Given the description of an element on the screen output the (x, y) to click on. 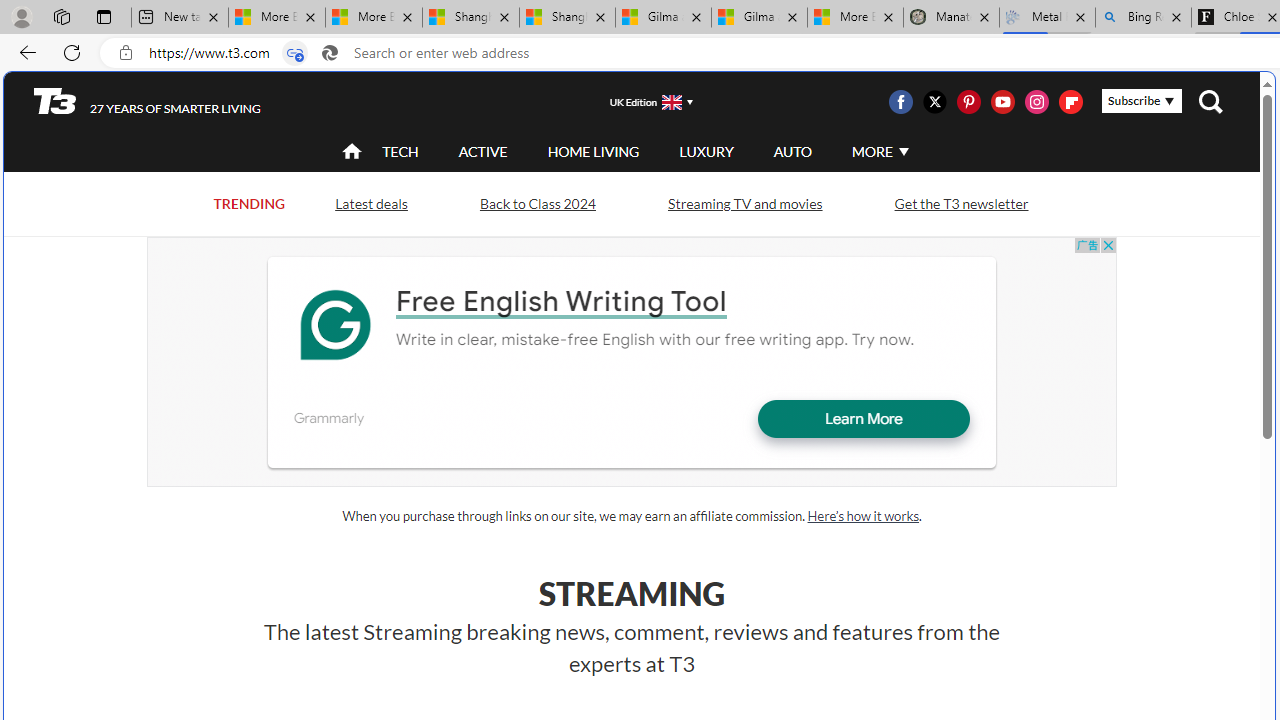
TECH (399, 151)
AUTO (792, 151)
Manatee Mortality Statistics | FWC (951, 17)
Bing Real Estate - Home sales and rental listings (1143, 17)
Visit us on Instagram (1037, 101)
LUXURY (705, 151)
Get the T3 newsletter (961, 202)
Search icon (329, 53)
HOME LIVING (593, 151)
home (352, 152)
Class: icon-svg (1070, 101)
Tabs in split screen (294, 53)
T3 (55, 100)
